Given the description of an element on the screen output the (x, y) to click on. 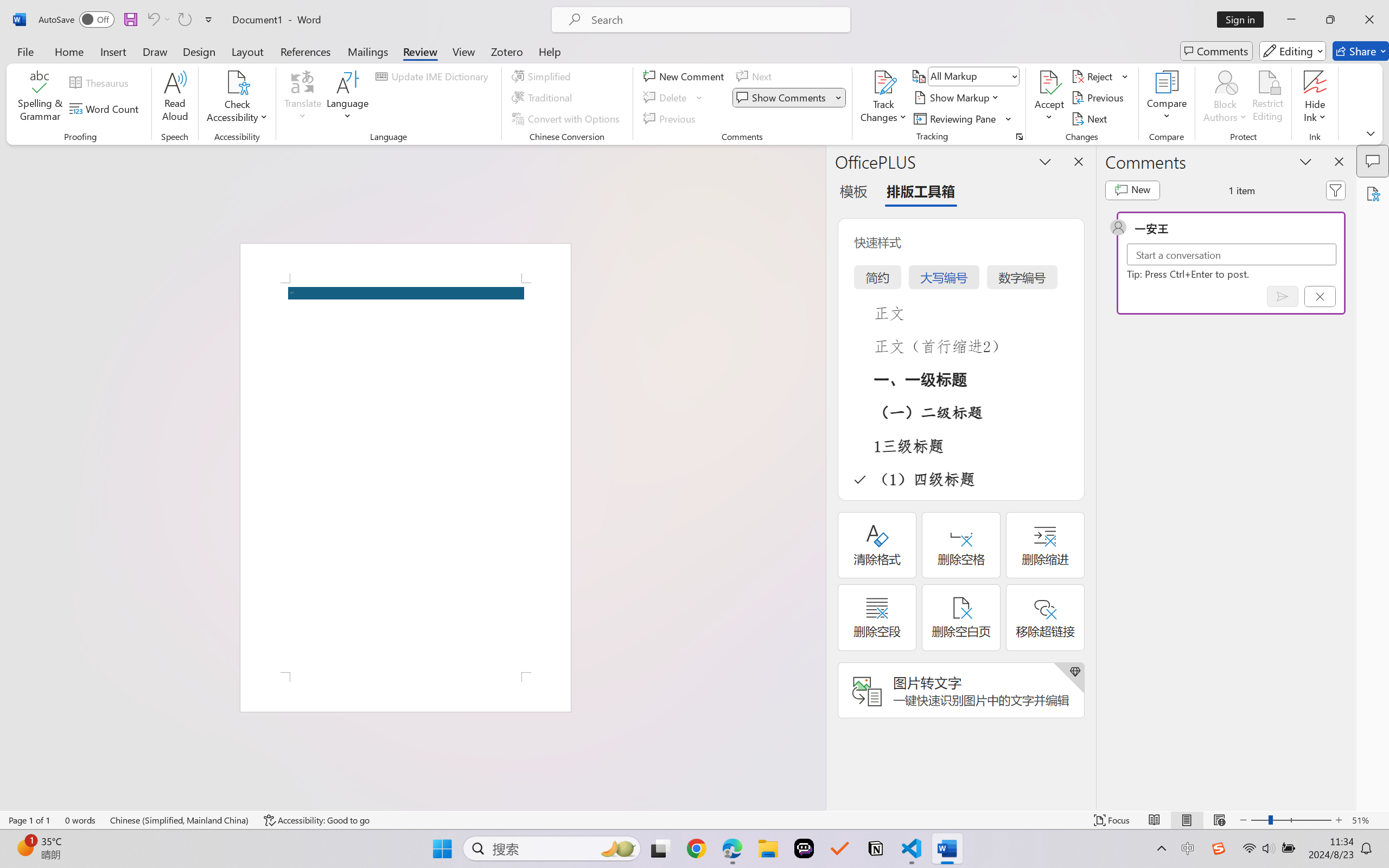
Translate (303, 97)
Spelling & Grammar (39, 97)
Track Changes (883, 81)
Editing (1292, 50)
Show Comments (788, 97)
Simplified (542, 75)
Accept (1049, 97)
Next (1090, 118)
Language (347, 97)
